Given the description of an element on the screen output the (x, y) to click on. 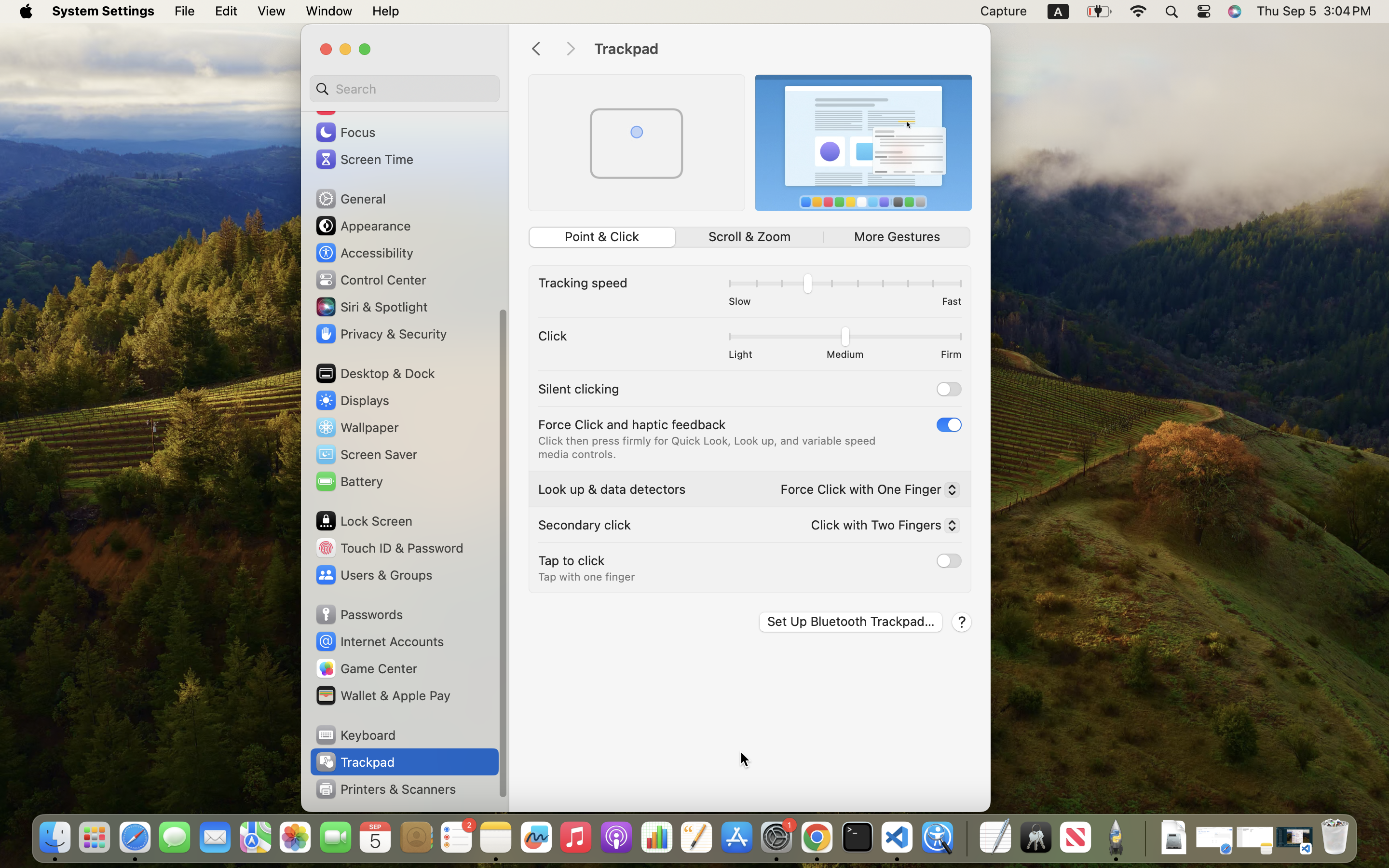
Privacy & Security Element type: AXStaticText (380, 333)
Force Click with One Finger Element type: AXPopUpButton (865, 491)
Keyboard Element type: AXStaticText (354, 734)
Control Center Element type: AXStaticText (370, 279)
Silent clicking Element type: AXStaticText (578, 388)
